Given the description of an element on the screen output the (x, y) to click on. 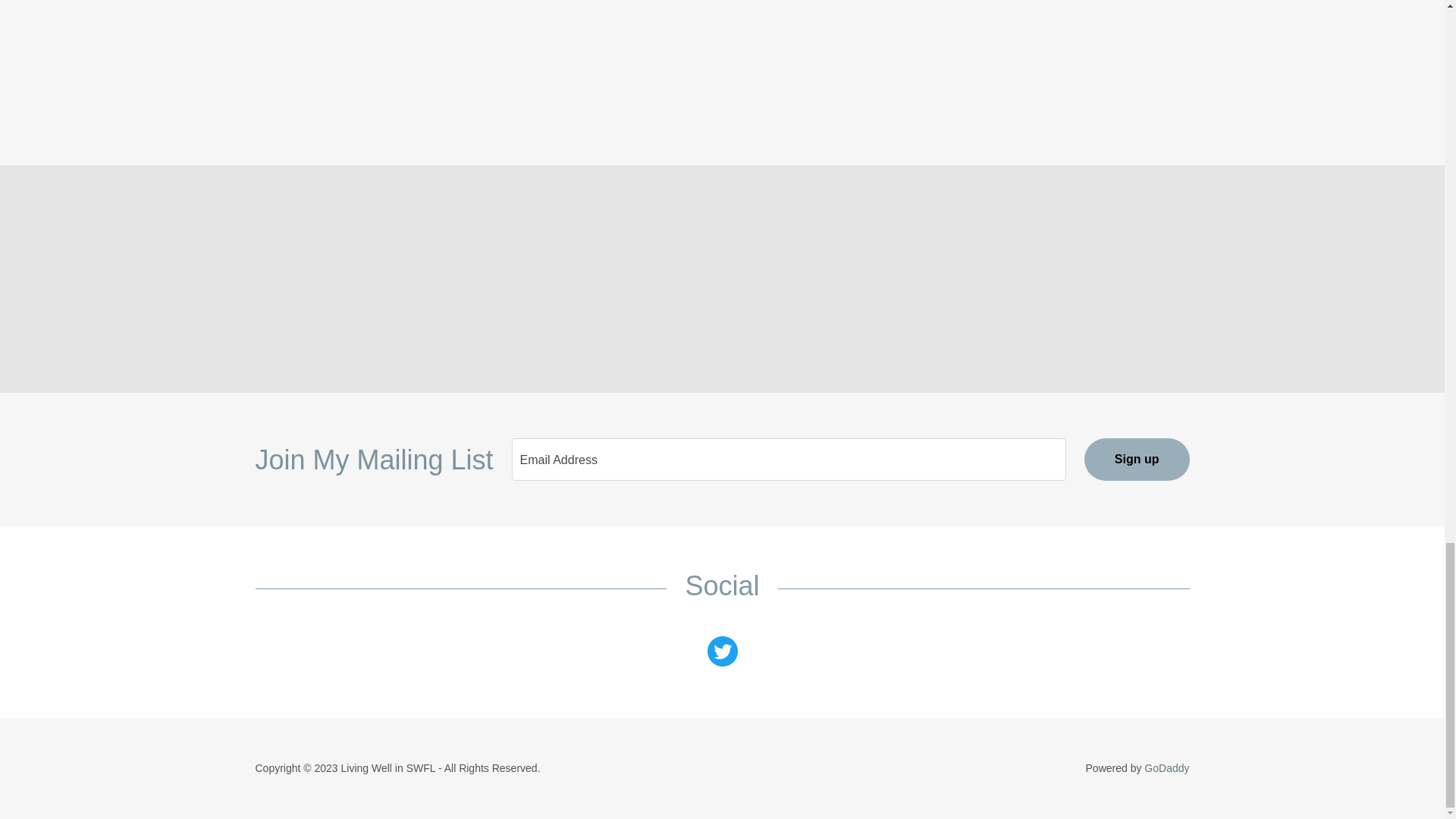
Sign up (1136, 459)
GoDaddy (1166, 767)
